Given the description of an element on the screen output the (x, y) to click on. 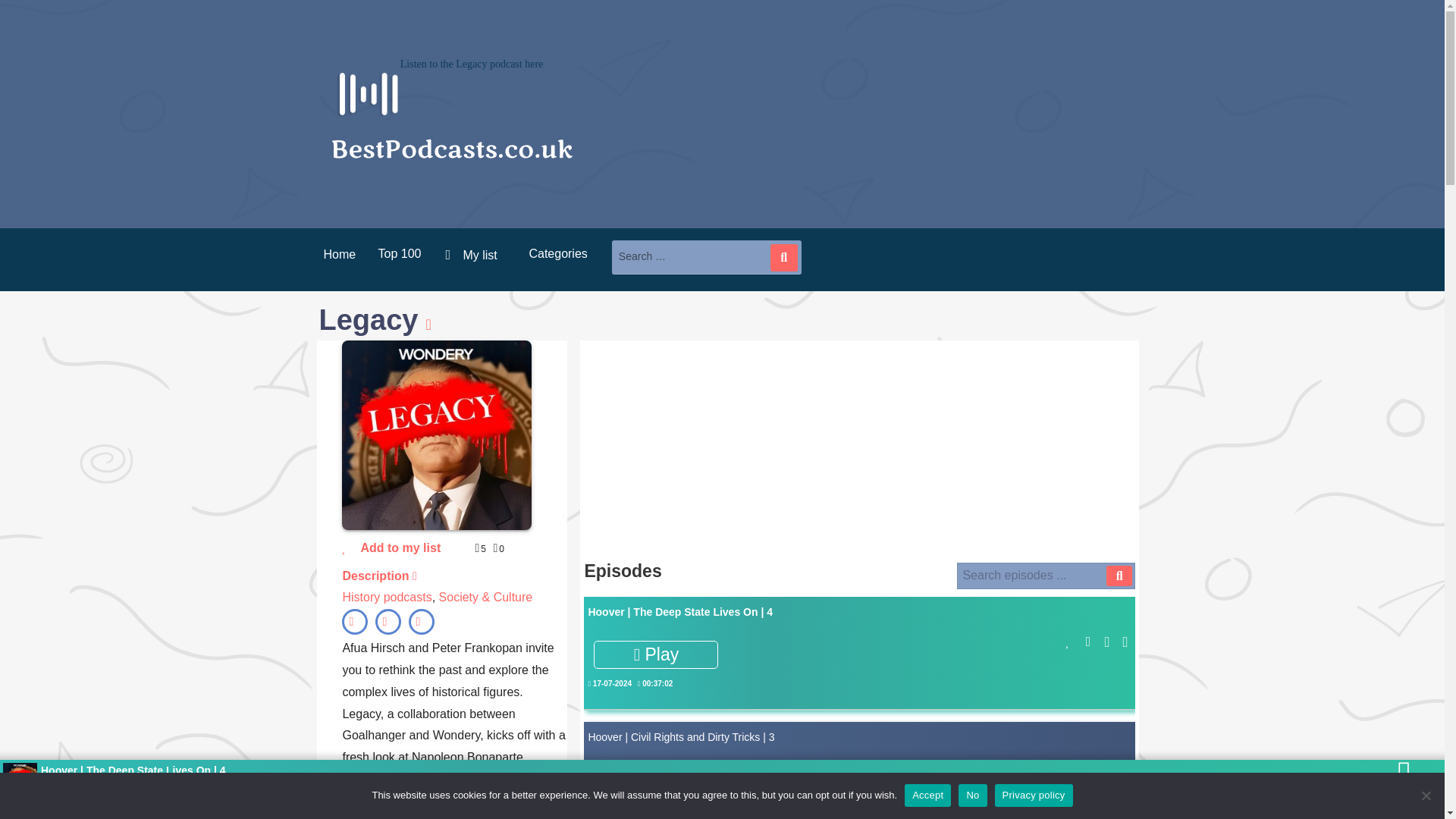
Categories (557, 253)
Home (334, 254)
Top 100 (398, 253)
No (1425, 795)
My list (474, 254)
Advertisement (859, 806)
Advertisement (859, 449)
